Given the description of an element on the screen output the (x, y) to click on. 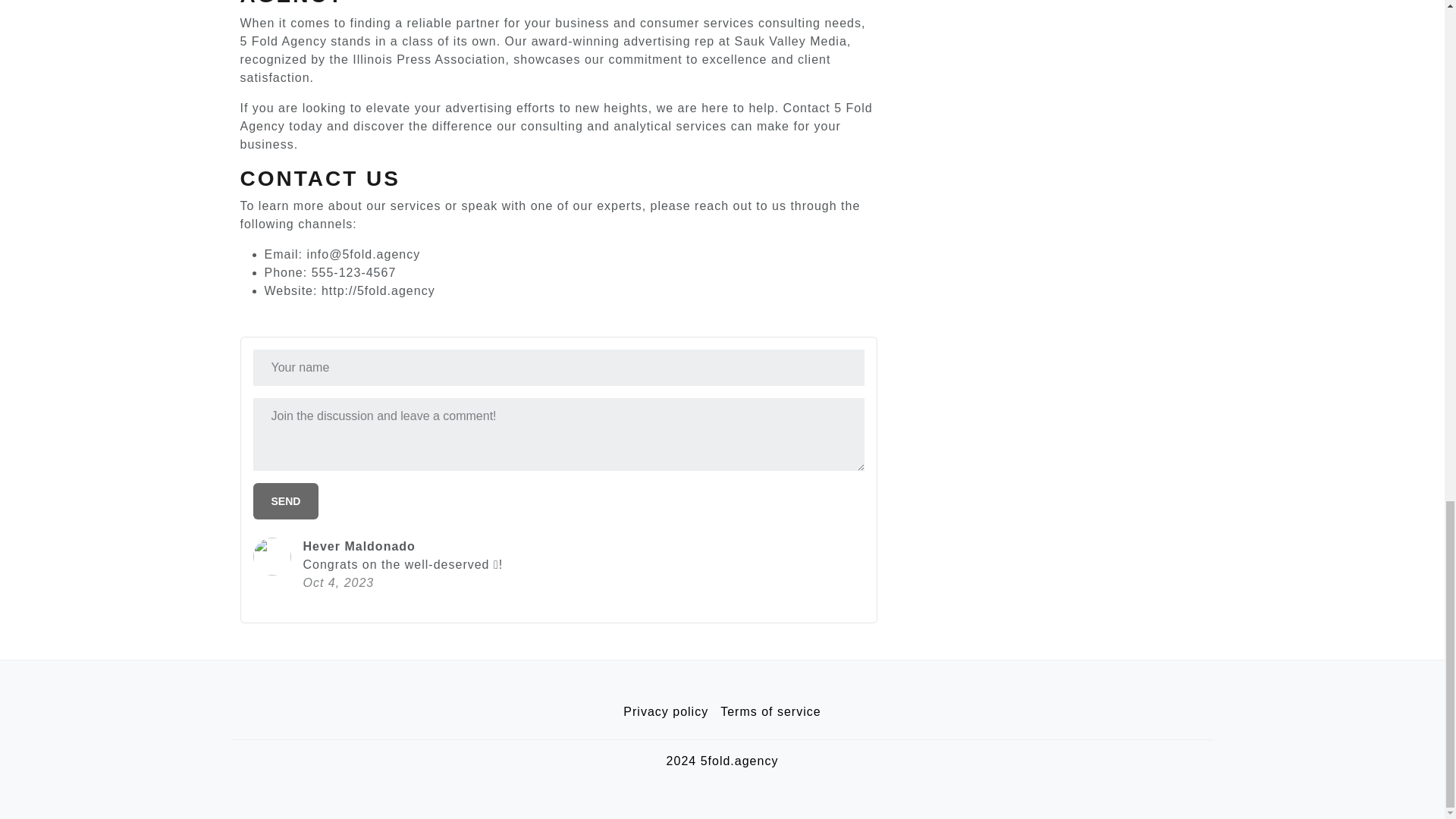
Send (285, 501)
Terms of service (770, 711)
Send (285, 501)
Privacy policy (665, 711)
